Given the description of an element on the screen output the (x, y) to click on. 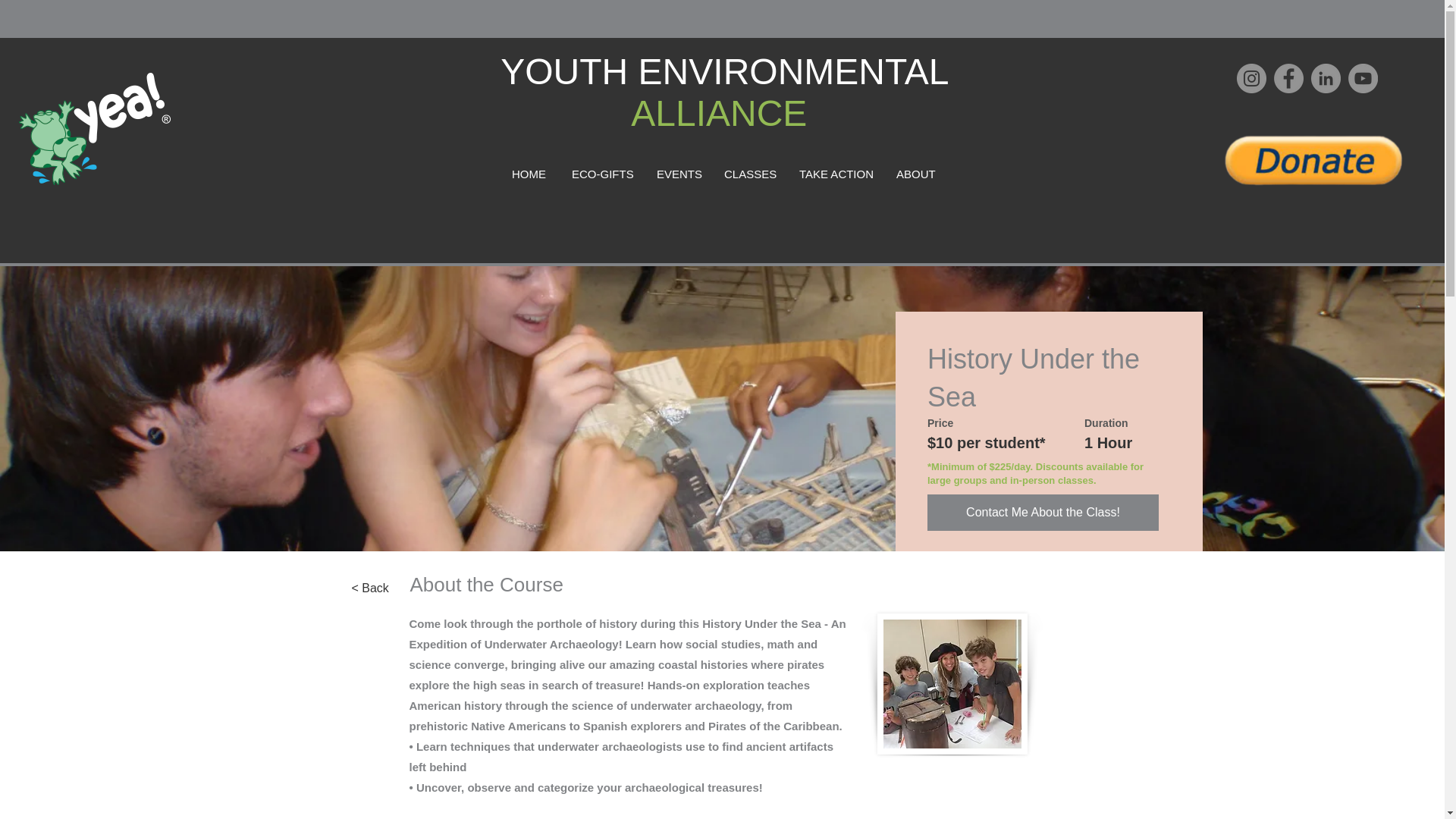
TAKE ACTION (835, 173)
EVENTS (678, 173)
ECO-GIFTS (602, 173)
HOME (529, 173)
CLASSES (749, 173)
Contact Me About the Class! (1042, 512)
ABOUT (915, 173)
